Given the description of an element on the screen output the (x, y) to click on. 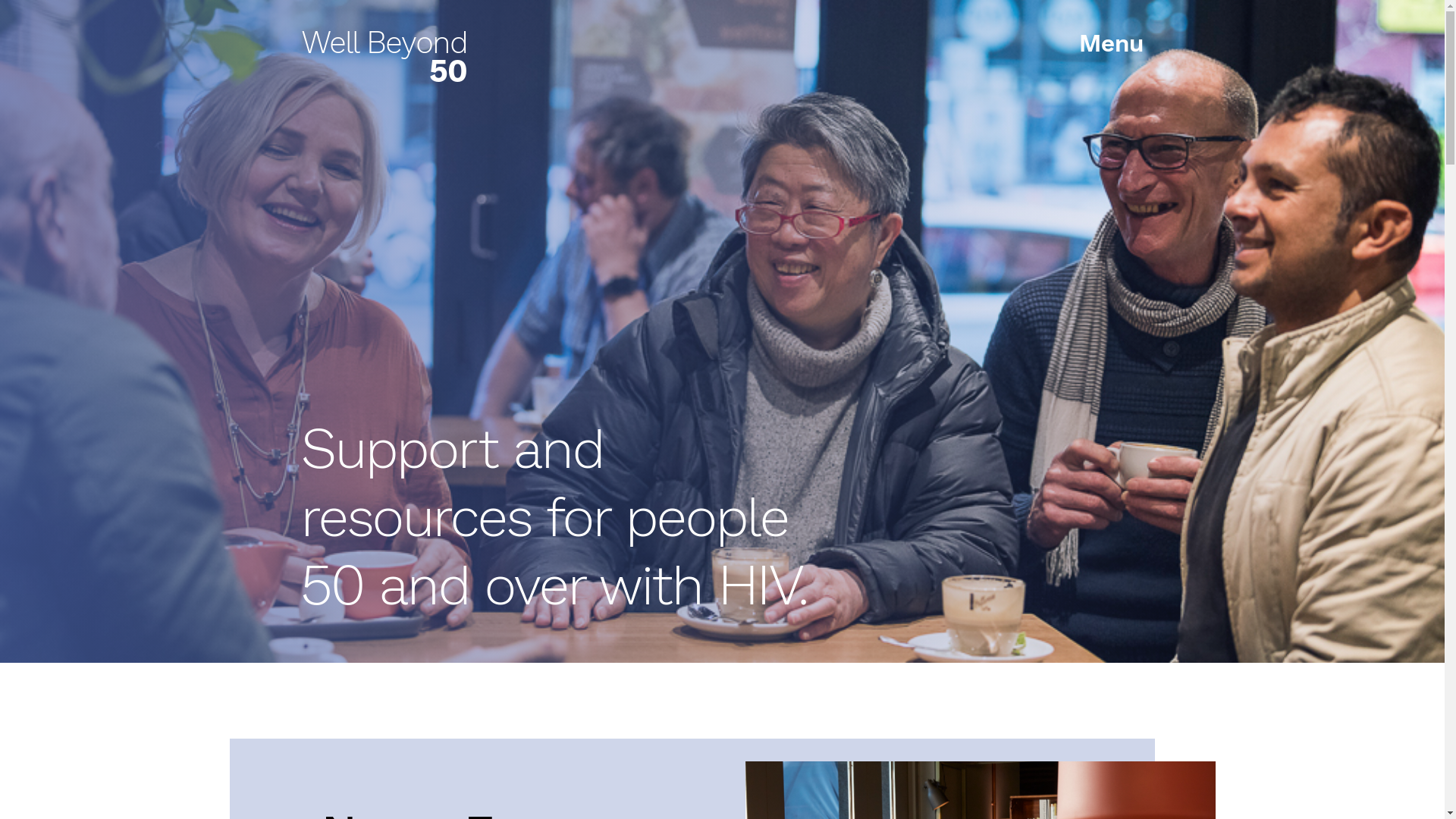
Well Beyond
50 Element type: text (384, 55)
